Given the description of an element on the screen output the (x, y) to click on. 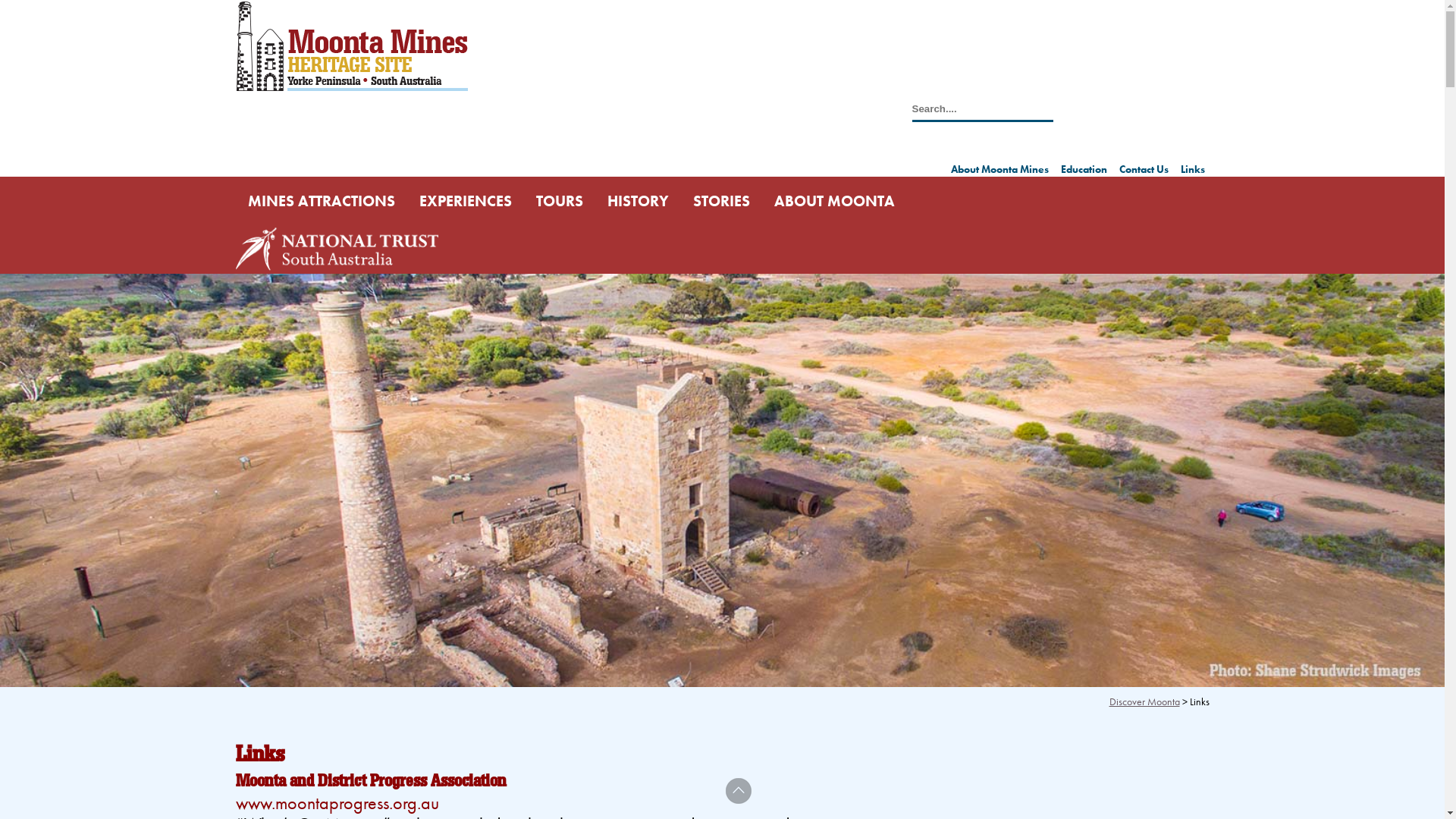
MINES ATTRACTIONS Element type: text (320, 200)
Contact Us Element type: text (1143, 168)
STORIES Element type: text (721, 200)
www.moontaprogress.org.au Element type: text (336, 802)
Moonta and District Progress Association Element type: text (370, 780)
HISTORY Element type: text (637, 200)
Discover Moonta Element type: text (1143, 701)
EXPERIENCES Element type: text (464, 200)
Education Element type: text (1082, 168)
Links Element type: text (1191, 168)
About Moonta Mines Element type: text (999, 168)
ABOUT MOONTA Element type: text (833, 200)
TOURS Element type: text (558, 200)
